Given the description of an element on the screen output the (x, y) to click on. 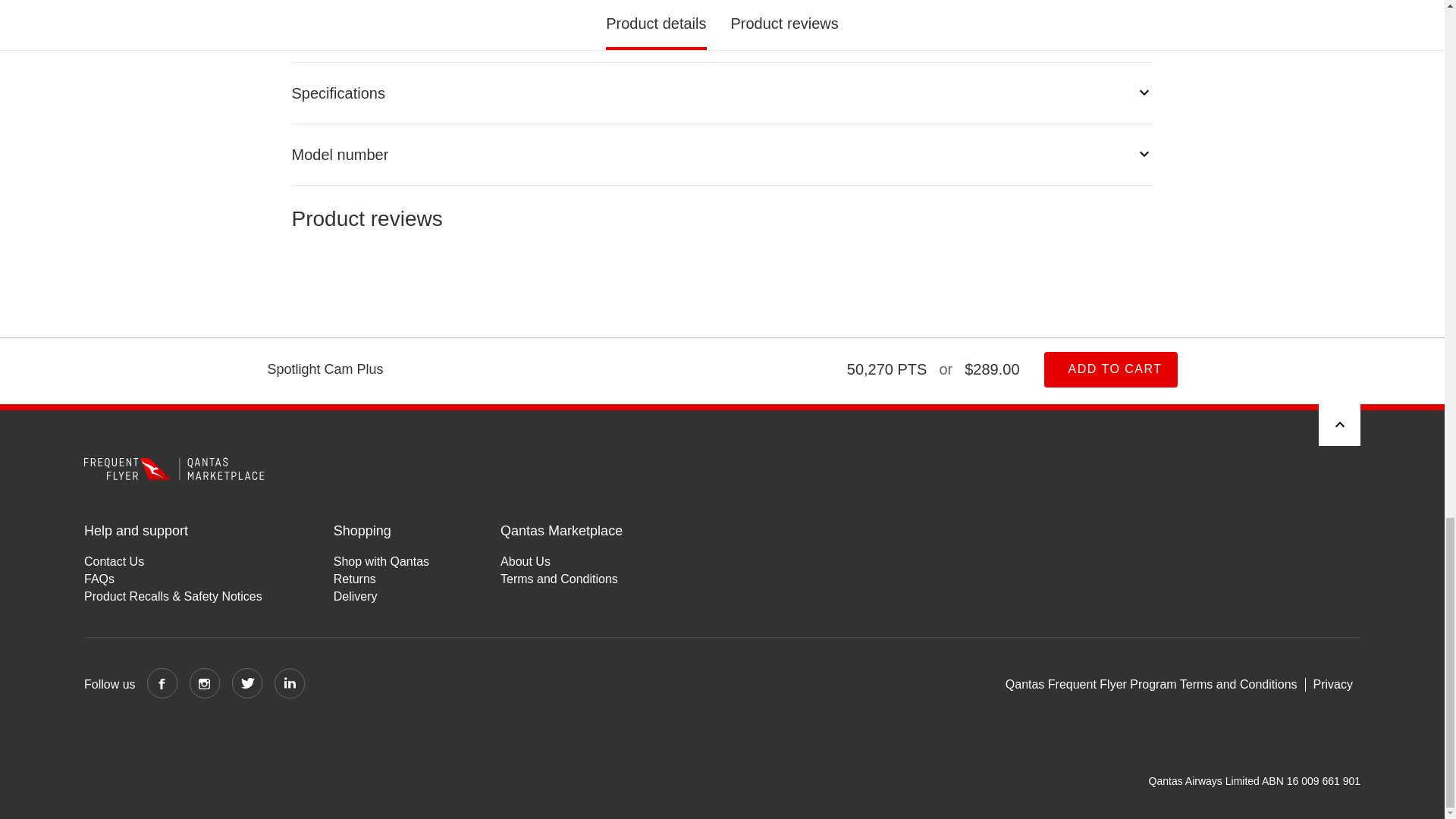
FAQs (173, 579)
Product reviews (722, 270)
Contact Us (173, 561)
